Given the description of an element on the screen output the (x, y) to click on. 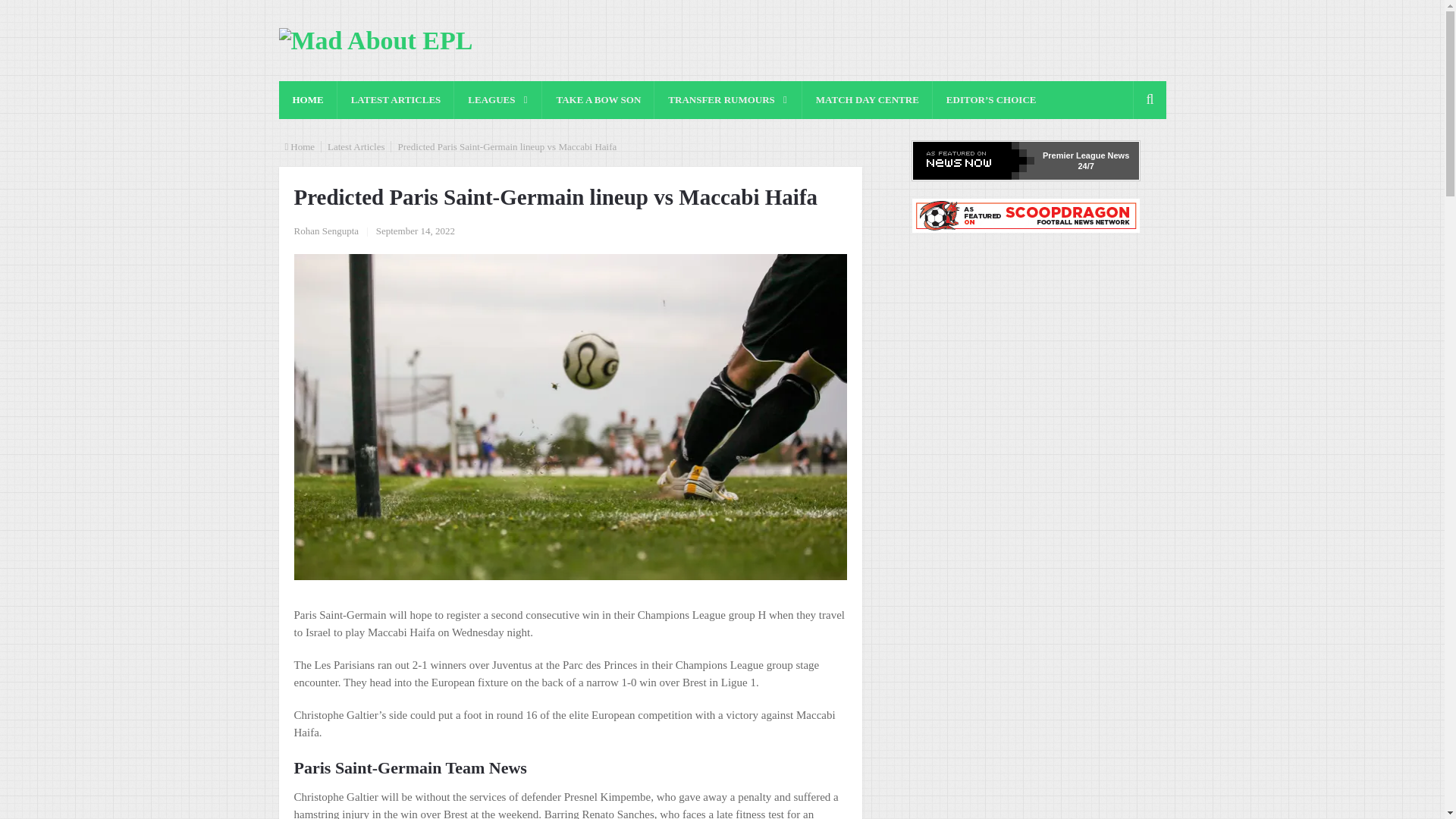
Posts by Rohan Sengupta (326, 230)
HOME (308, 99)
LEAGUES (497, 99)
LATEST ARTICLES (395, 99)
